Given the description of an element on the screen output the (x, y) to click on. 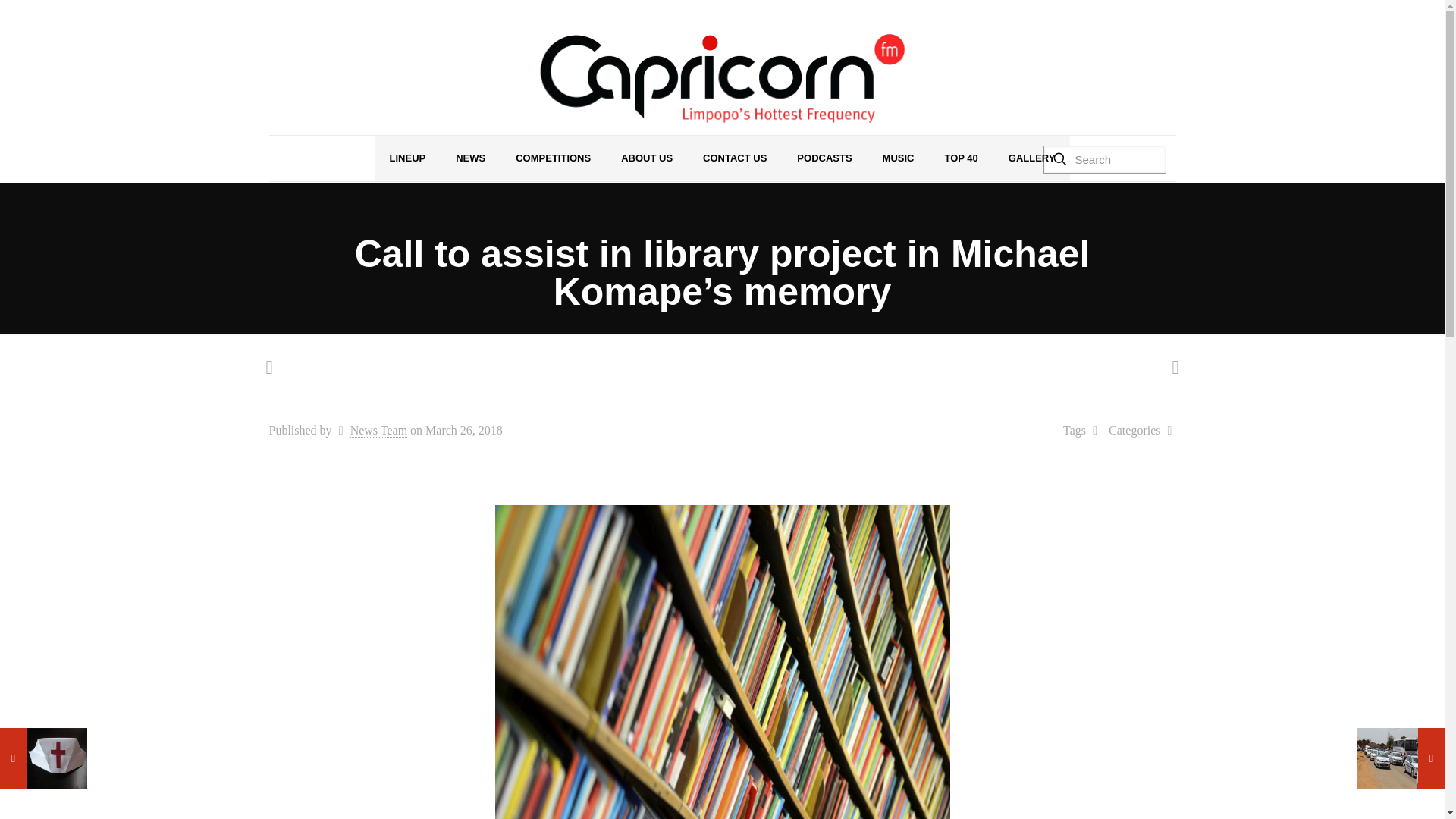
Capricorn FM (721, 78)
NEWS (470, 157)
LINEUP (407, 157)
TOP 40 (960, 157)
COMPETITIONS (552, 157)
MUSIC (898, 157)
PODCASTS (823, 157)
GALLERY (1031, 157)
CONTACT US (734, 157)
News Team (378, 430)
ABOUT US (646, 157)
